Given the description of an element on the screen output the (x, y) to click on. 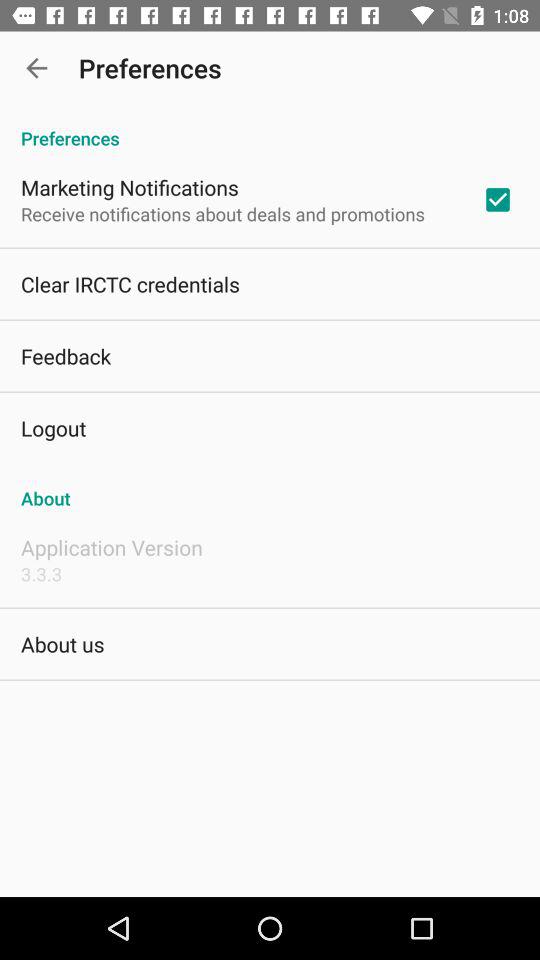
tap the marketing notifications app (129, 187)
